Given the description of an element on the screen output the (x, y) to click on. 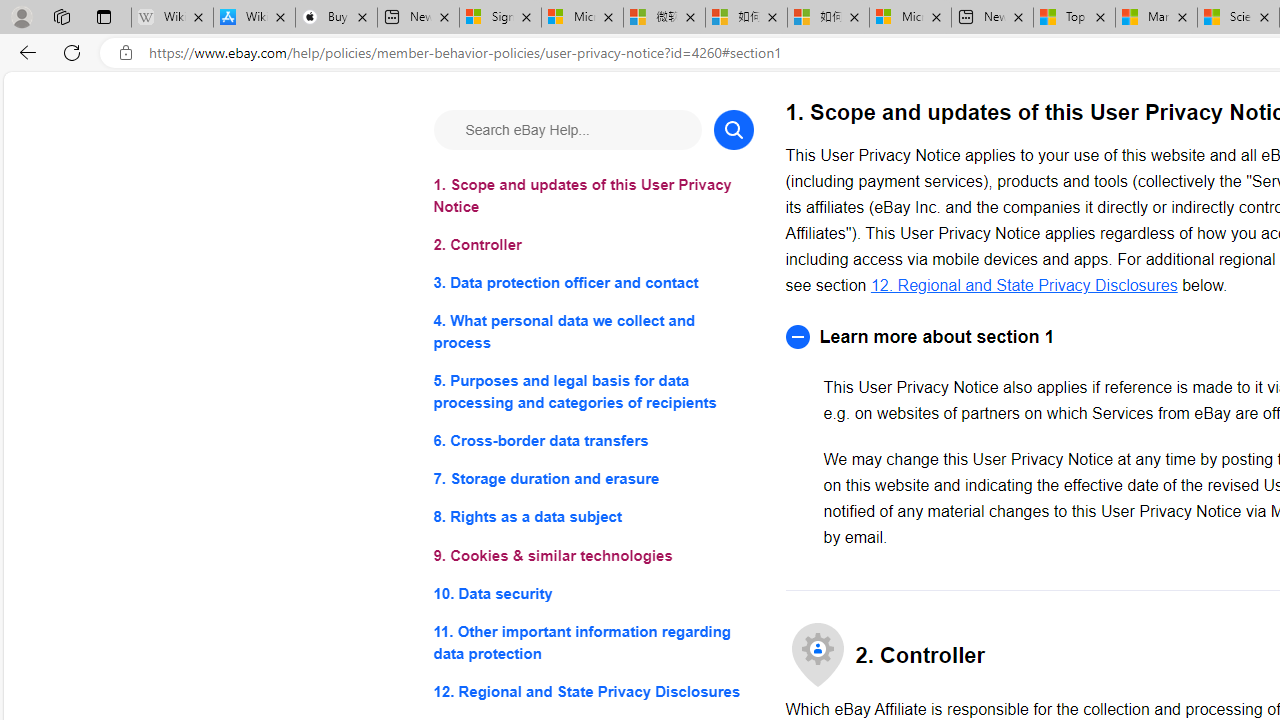
10. Data security (592, 592)
9. Cookies & similar technologies (592, 555)
6. Cross-border data transfers (592, 440)
12. Regional and State Privacy Disclosures (592, 690)
3. Data protection officer and contact (592, 283)
8. Rights as a data subject (592, 517)
7. Storage duration and erasure (592, 479)
10. Data security (592, 592)
1. Scope and updates of this User Privacy Notice (592, 196)
